Given the description of an element on the screen output the (x, y) to click on. 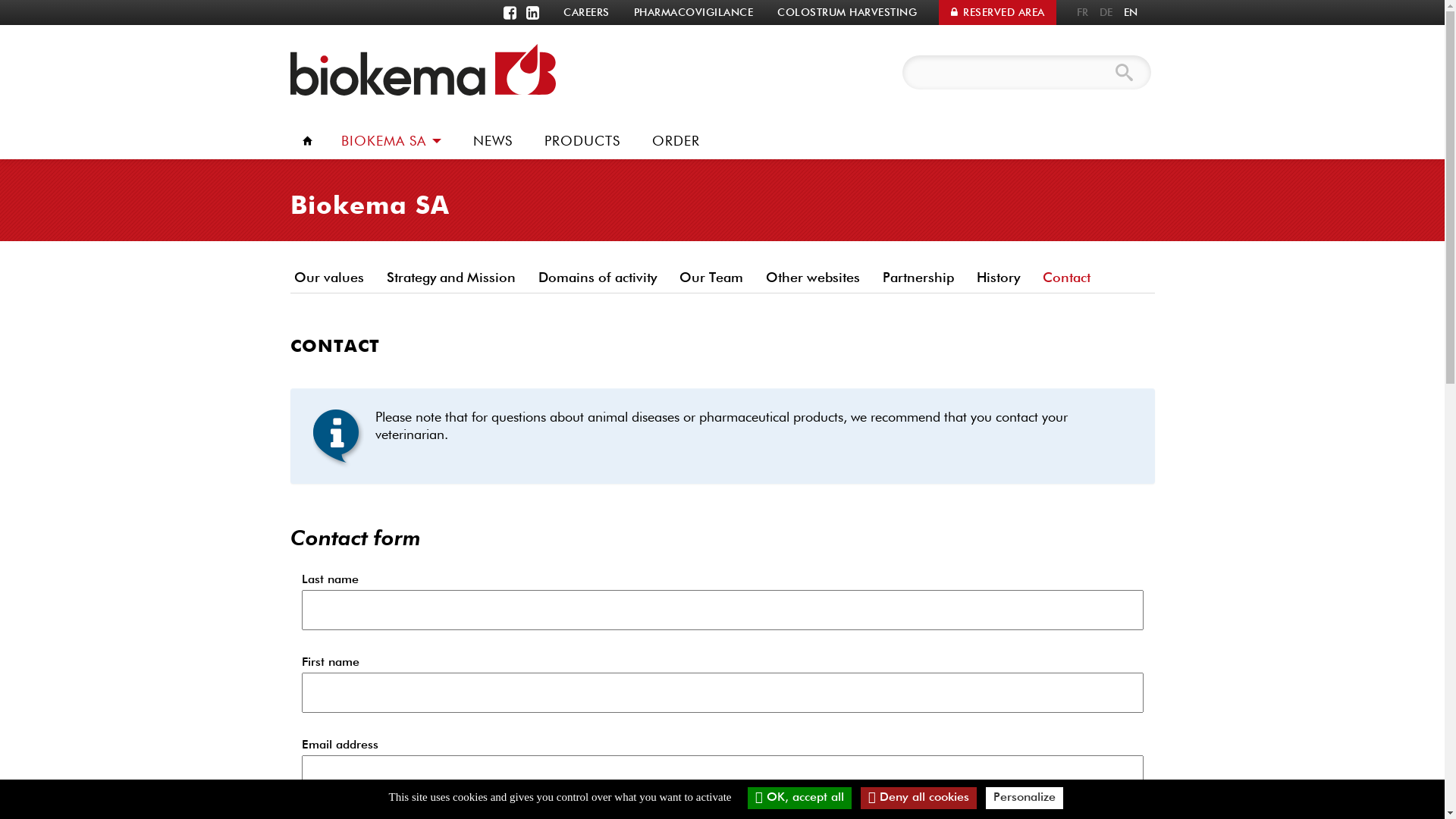
Deny all cookies Element type: text (918, 798)
Other websites Element type: text (811, 277)
NEWS Element type: text (491, 140)
PRODUCTS Element type: text (581, 140)
OK, accept all Element type: text (799, 798)
EN Element type: text (1129, 12)
Contact Element type: text (1066, 277)
RESERVED AREA Element type: text (997, 12)
Search Element type: text (1124, 72)
Partnership Element type: text (917, 277)
History Element type: text (997, 277)
Our Team Element type: text (710, 277)
PHARMACOVIGILANCE Element type: text (693, 12)
Our values Element type: text (331, 277)
Personalize Element type: text (1024, 798)
Domains of activity Element type: text (596, 277)
COLOSTRUM HARVESTING Element type: text (846, 12)
ORDER Element type: text (675, 140)
CAREERS Element type: text (586, 12)
Strategy and Mission Element type: text (450, 277)
FR Element type: text (1081, 12)
DE Element type: text (1105, 12)
BIOKEMA SA Element type: text (390, 139)
